Given the description of an element on the screen output the (x, y) to click on. 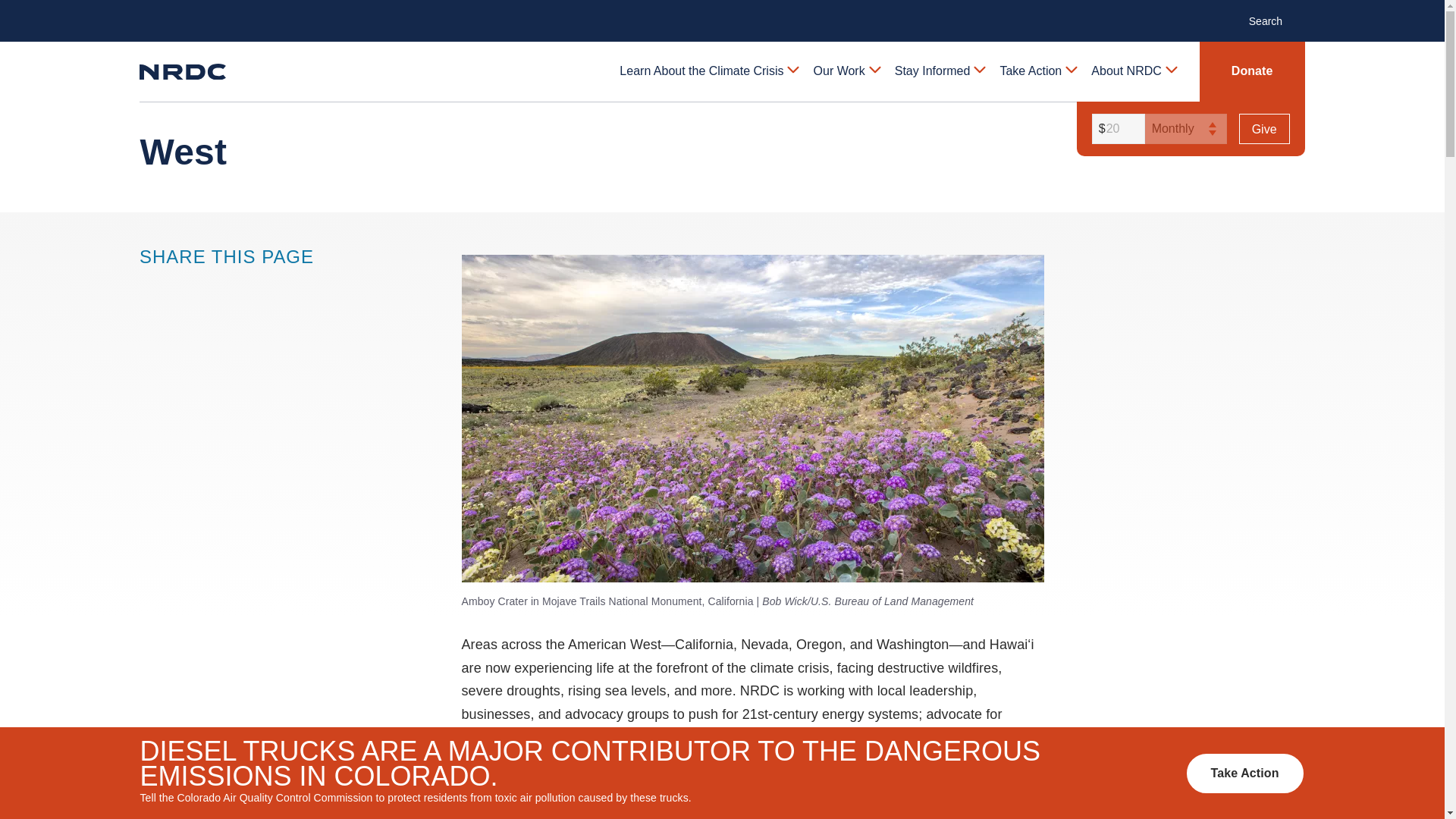
Our Work (846, 71)
20 (1116, 128)
Skip to main content (721, 12)
Share this page block (149, 284)
Learn About the Climate Crisis (707, 71)
Search (1273, 19)
Share this page block (210, 284)
Stay Informed (939, 71)
Share this page block (180, 284)
